Given the description of an element on the screen output the (x, y) to click on. 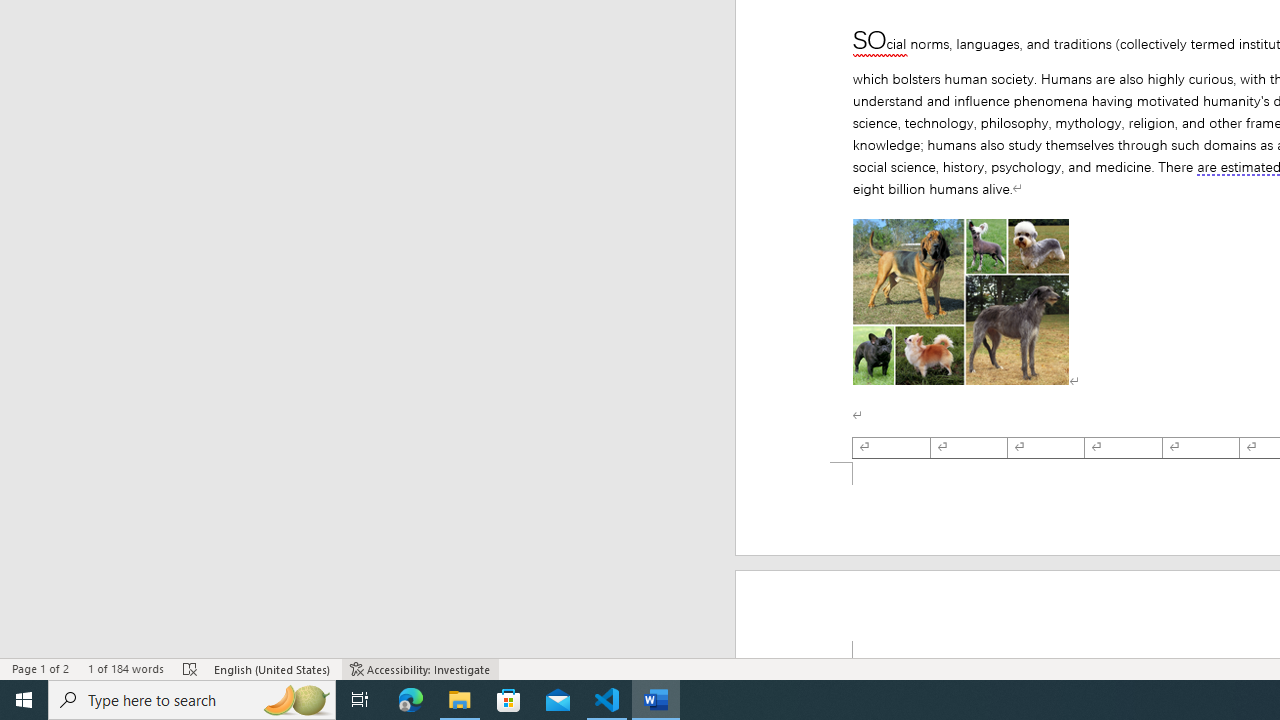
Language English (United States) (273, 668)
Morphological variation in six dogs (960, 301)
Spelling and Grammar Check Errors (191, 668)
Accessibility Checker Accessibility: Investigate (420, 668)
Page Number Page 1 of 2 (39, 668)
